Given the description of an element on the screen output the (x, y) to click on. 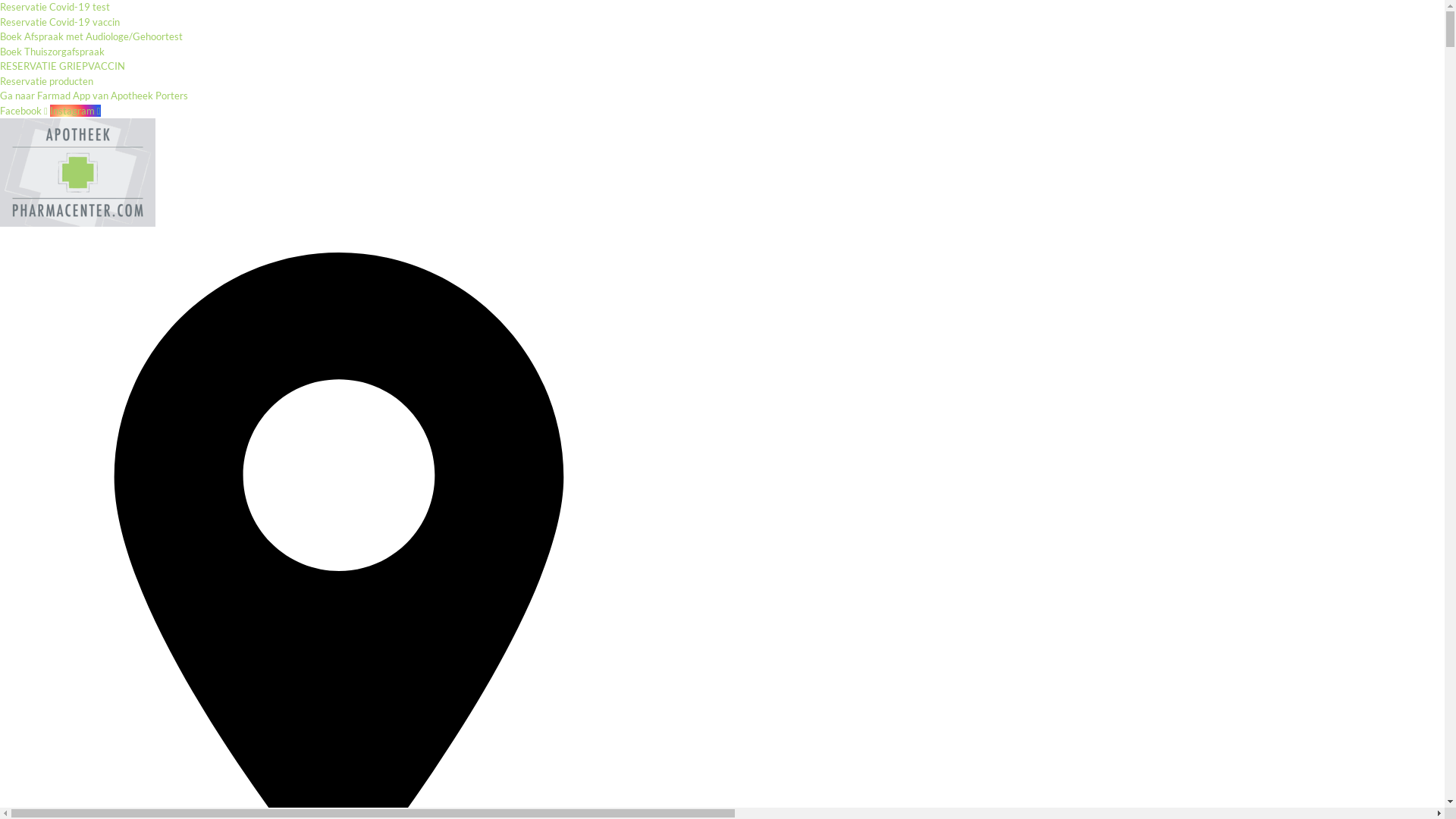
Boek Thuiszorgafspraak Element type: text (52, 51)
Reservatie Covid-19 vaccin Element type: text (59, 21)
RESERVATIE GRIEPVACCIN Element type: text (62, 65)
Instagram Element type: text (75, 110)
Boek Afspraak met Audiologe/Gehoortest Element type: text (91, 36)
Facebook Element type: text (25, 110)
Ga naar Farmad App van Apotheek Porters Element type: text (94, 95)
Reservatie Covid-19 test Element type: text (54, 6)
Reservatie producten Element type: text (46, 80)
